Given the description of an element on the screen output the (x, y) to click on. 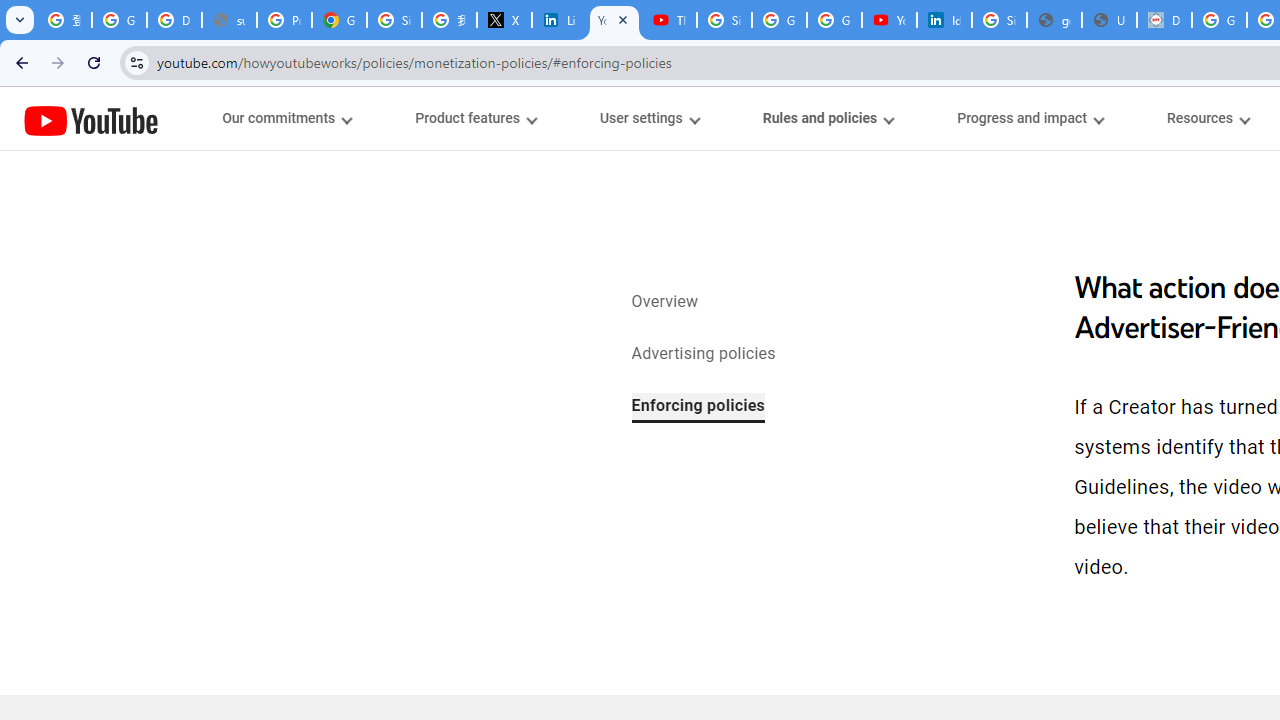
Privacy Help Center - Policies Help (284, 20)
JUMP TO CONTENT (209, 119)
Data Privacy Framework (1163, 20)
Enforcing policies (698, 407)
How YouTube Works (91, 118)
